Given the description of an element on the screen output the (x, y) to click on. 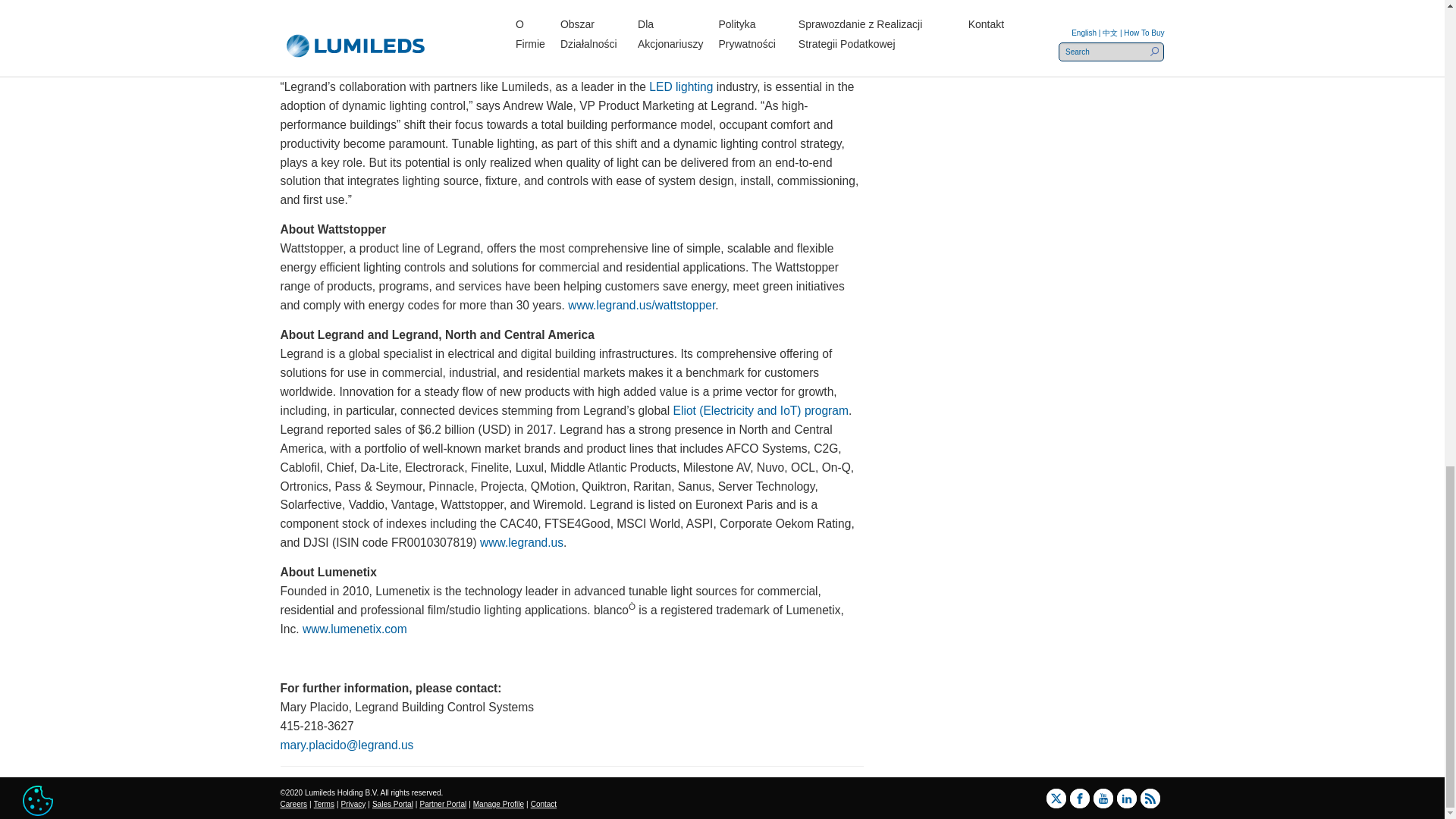
LED lighting (681, 86)
youtube (1103, 798)
linkedin2 (1126, 798)
Sales Portal (392, 804)
www.lumenetix.com (354, 628)
Privacy (353, 804)
facebook (1079, 798)
Terms (324, 804)
Manage Profile (498, 804)
Contact (543, 804)
